Given the description of an element on the screen output the (x, y) to click on. 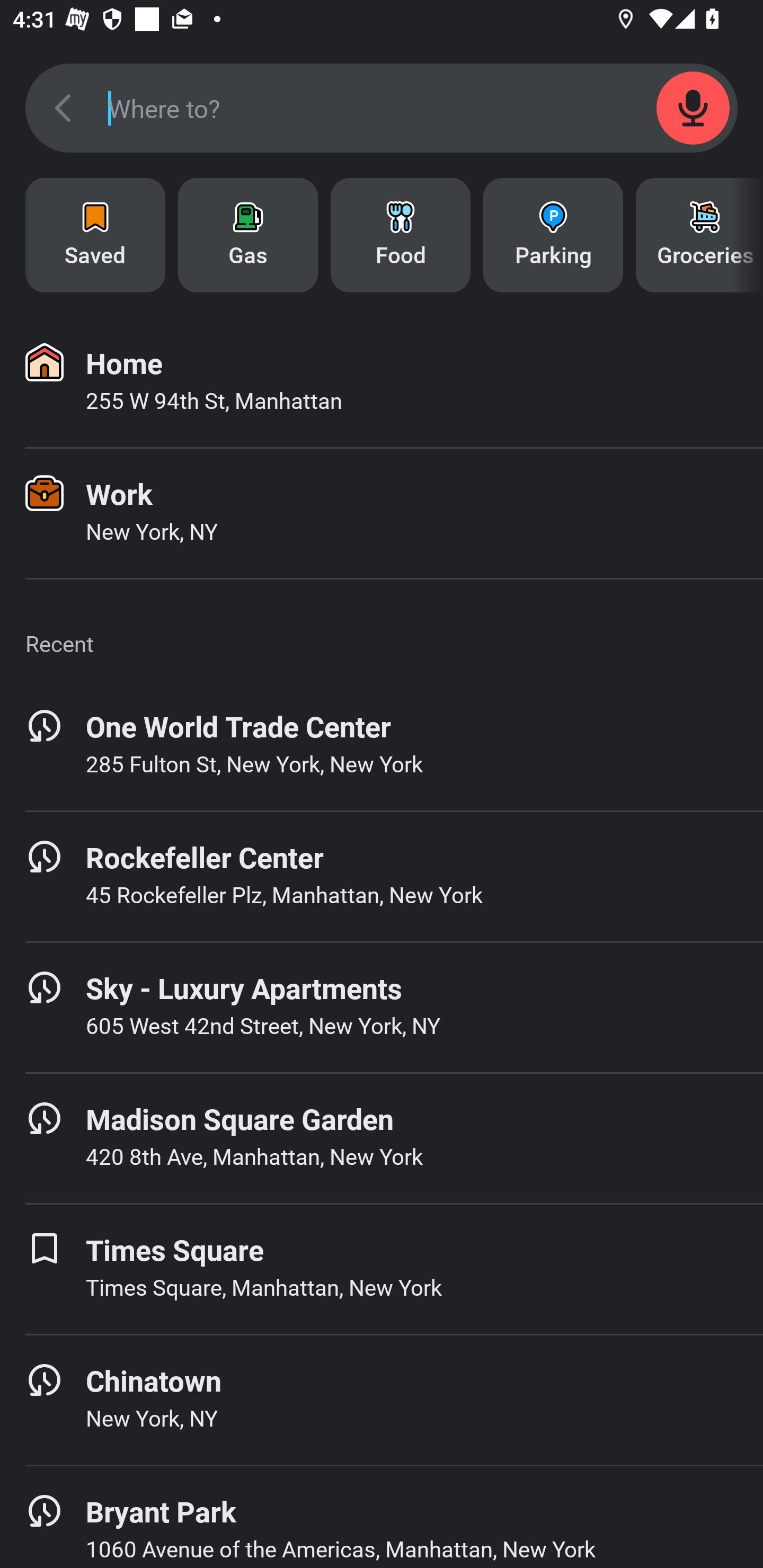
SEARCH_SCREEN_SEARCH_FIELD Where to? (381, 108)
Saved (95, 234)
Gas (247, 234)
Food (400, 234)
Parking (552, 234)
Groceries (699, 234)
Home 255 W 94th St, Manhattan (381, 382)
Work New York, NY (381, 513)
Times Square Times Square, Manhattan, New York (381, 1269)
Chinatown New York, NY (381, 1399)
